Given the description of an element on the screen output the (x, y) to click on. 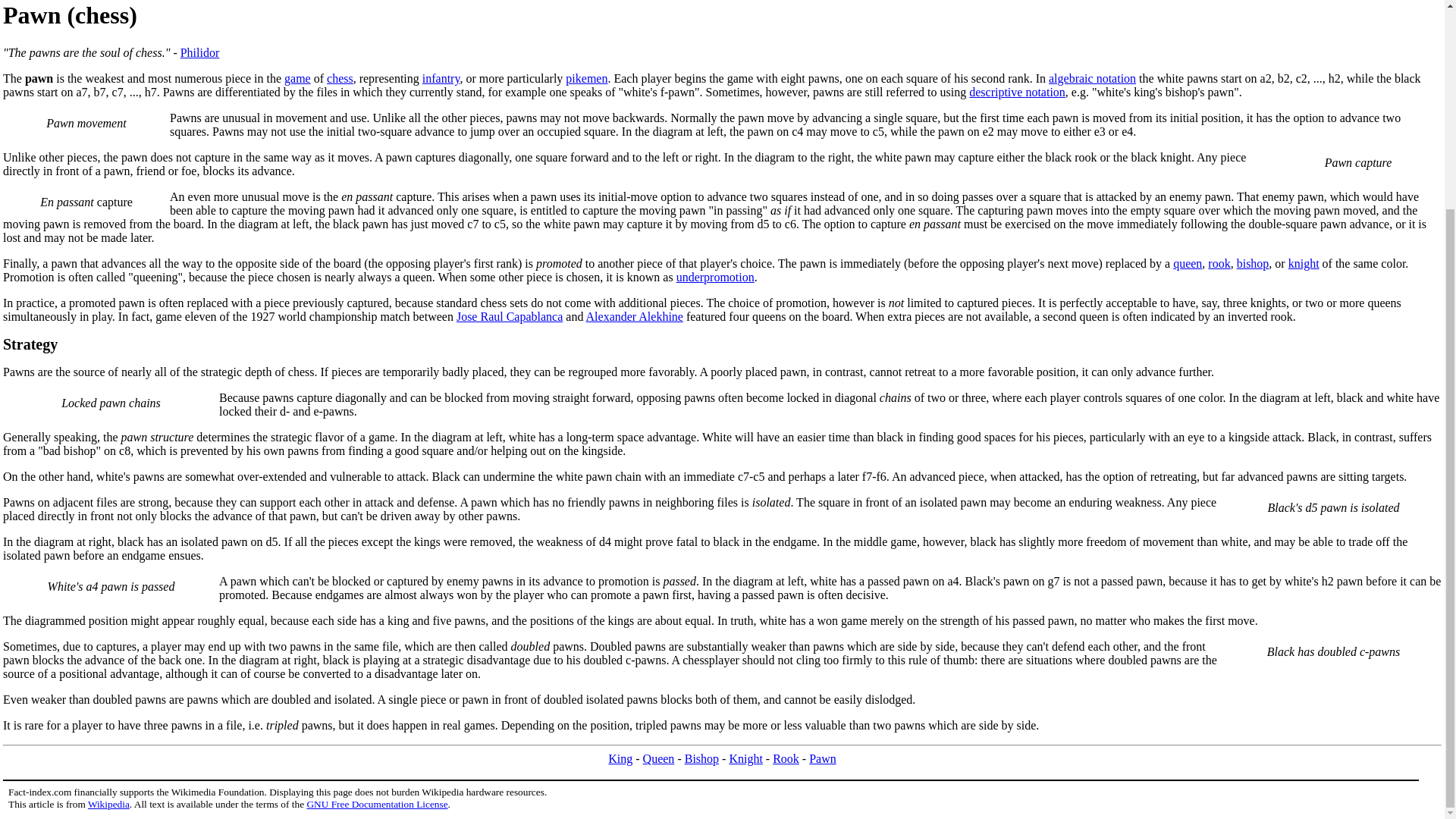
Chess (339, 78)
Jose Raul Capablanca (509, 316)
queen (1187, 263)
rook (1219, 263)
Queen (659, 758)
descriptive notation (1017, 91)
chess (339, 78)
Game (297, 78)
Underpromotion (715, 277)
knight (1303, 263)
pikemen (586, 78)
